Given the description of an element on the screen output the (x, y) to click on. 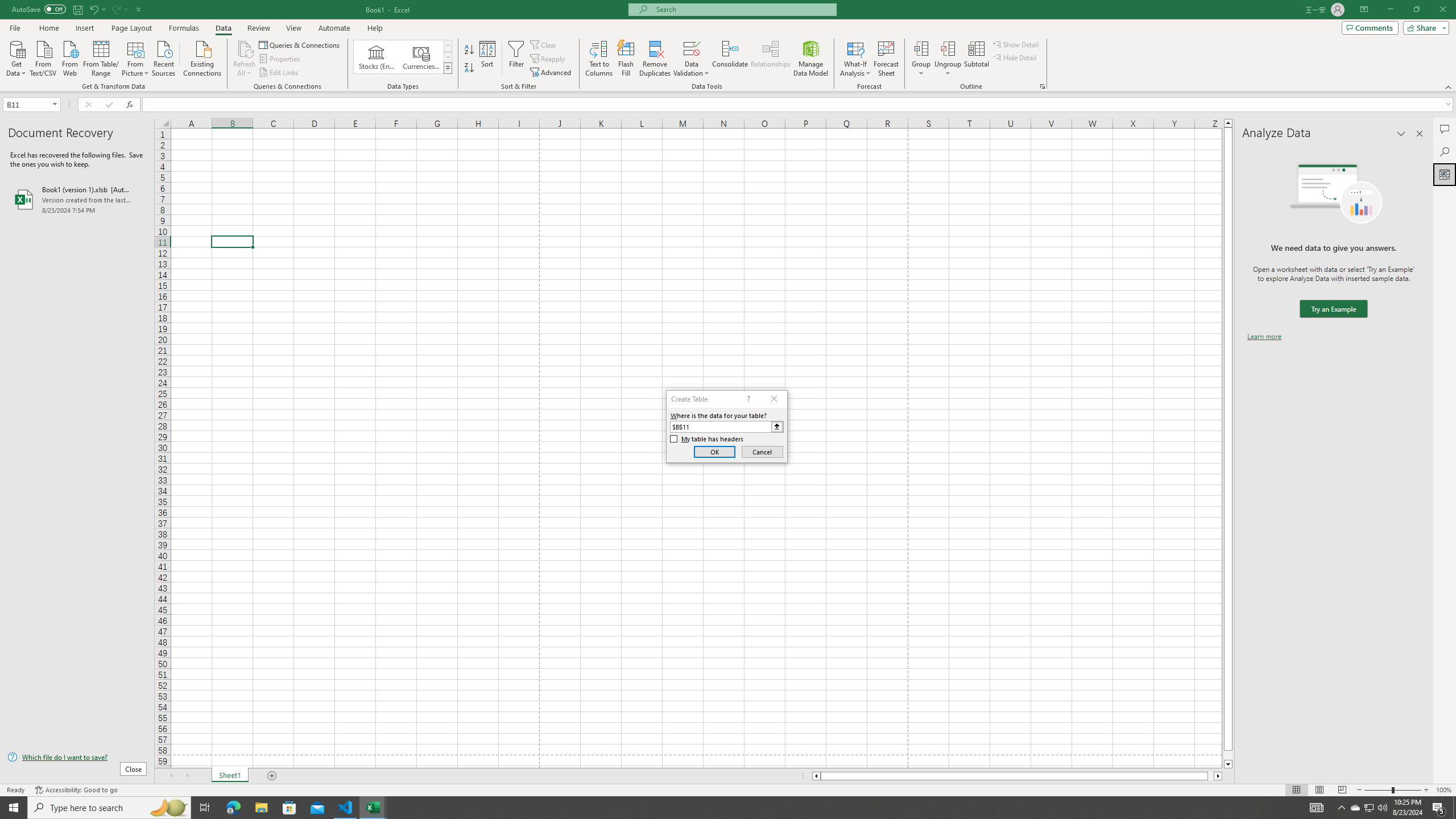
Relationships (770, 58)
